Given the description of an element on the screen output the (x, y) to click on. 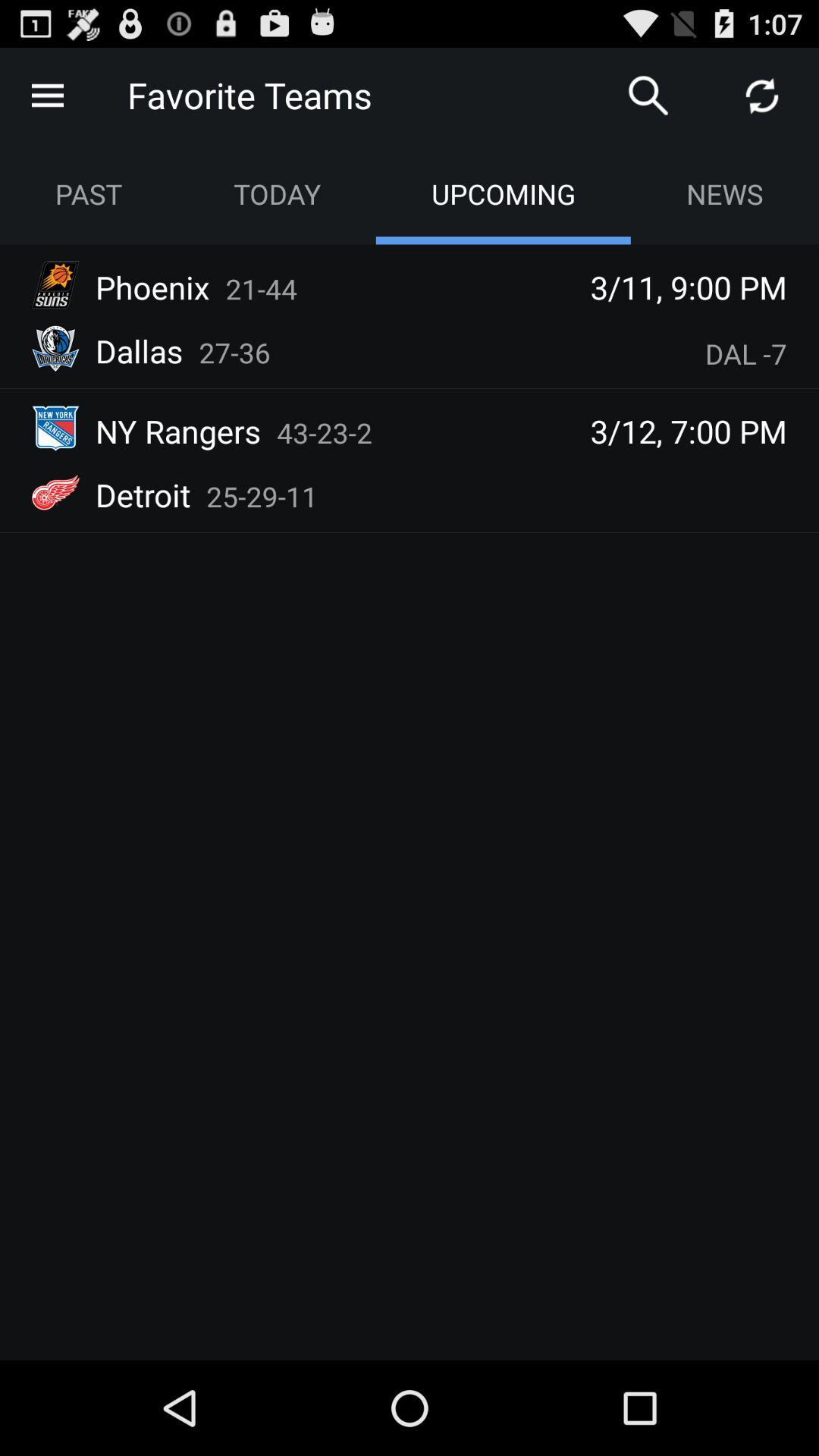
open the app next to 43-23-2 item (178, 430)
